Given the description of an element on the screen output the (x, y) to click on. 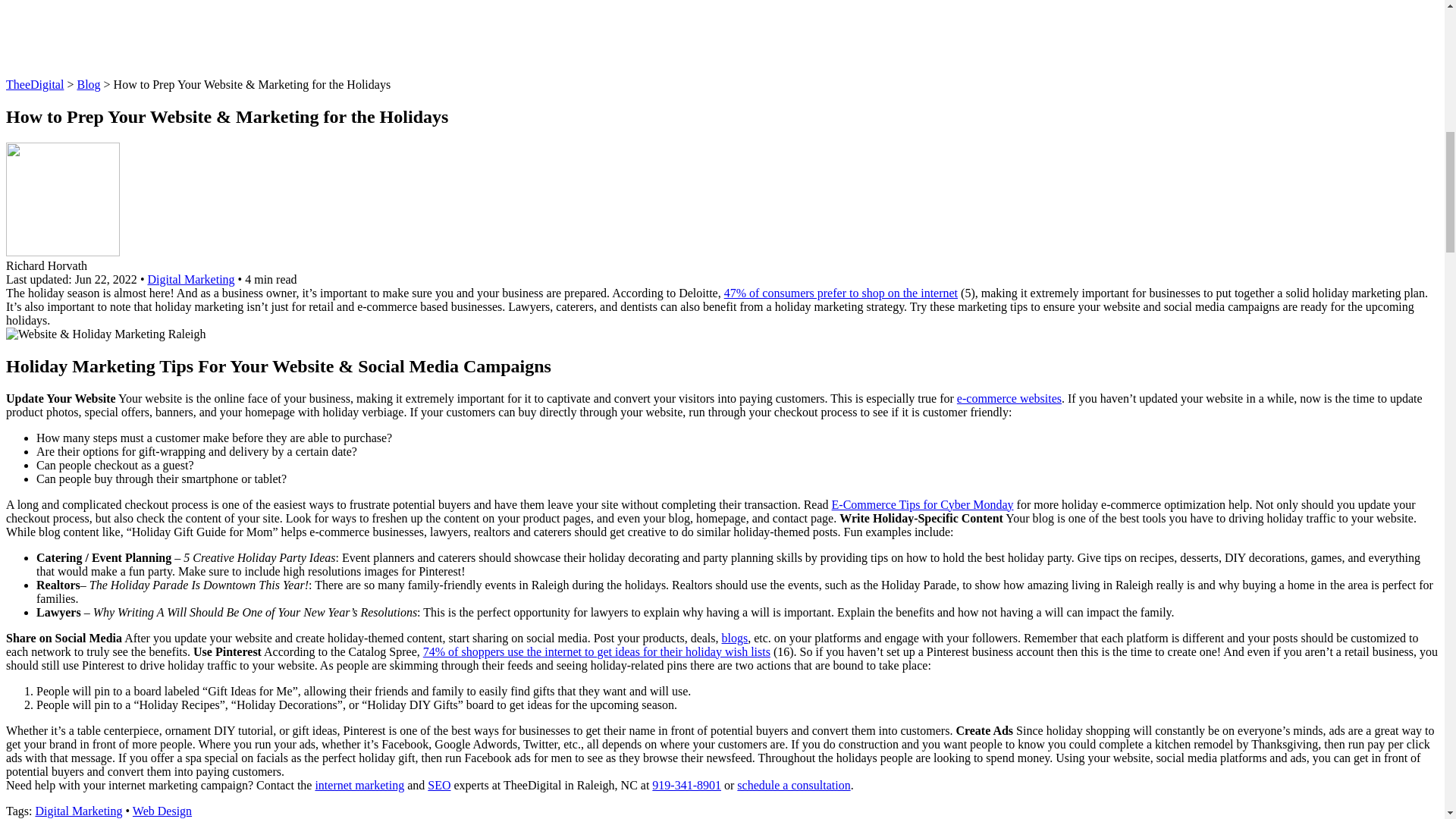
Raleigh E-Commerce Website Development (1008, 398)
blogs (735, 637)
Raleigh Internet Marketing (359, 784)
SEO (438, 784)
Schedule a Consultation with One of Our Experts (793, 784)
E-Commerce Tips for Cyber Monday (922, 504)
